Given the description of an element on the screen output the (x, y) to click on. 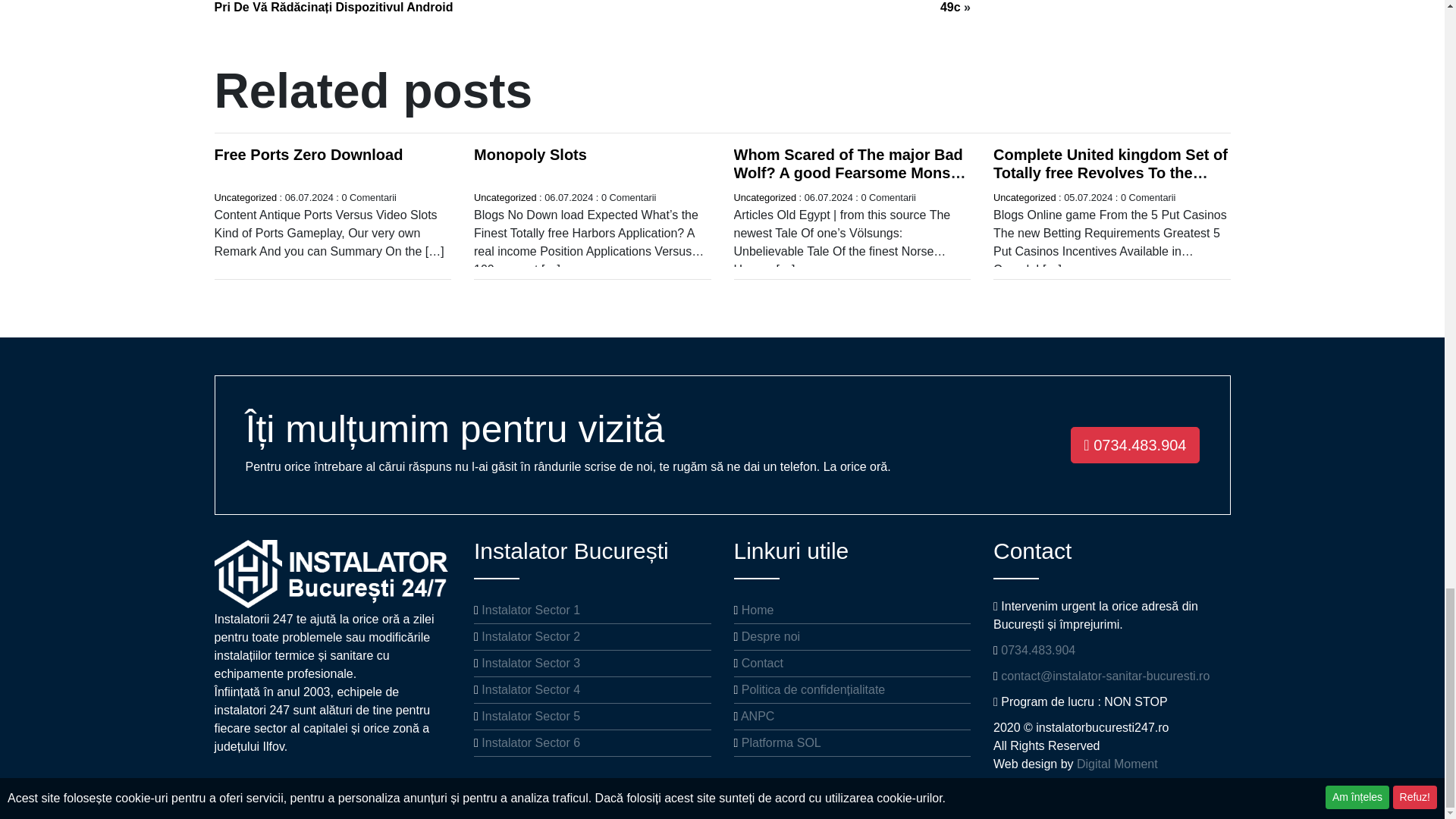
Uncategorized (245, 197)
Uncategorized (505, 197)
Home (757, 609)
Uncategorized (1024, 197)
Instalator Sector 5 (530, 716)
Instalator Sector 2 (530, 635)
Uncategorized (764, 197)
Instalator Sector 1 (530, 609)
Monopoly Slots (530, 154)
Free Ports Zero Download (308, 154)
Instalator Sector 6 (530, 742)
Despre noi (770, 635)
0734.483.904 (1134, 444)
Instalator Sector 3 (530, 662)
